Given the description of an element on the screen output the (x, y) to click on. 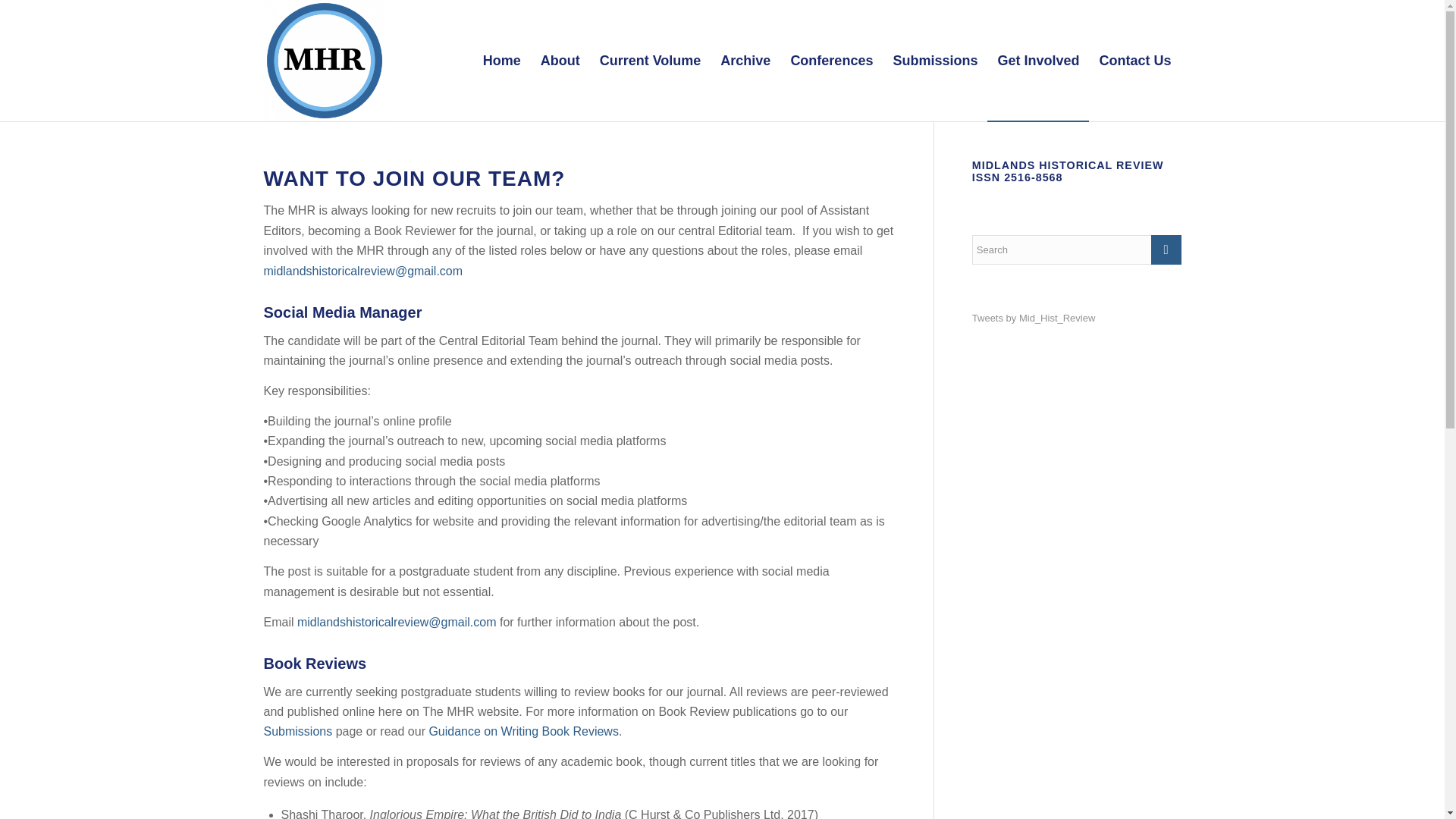
Guidance on Writing Book Reviews (523, 730)
Submissions (298, 730)
Current Volume (650, 60)
